Given the description of an element on the screen output the (x, y) to click on. 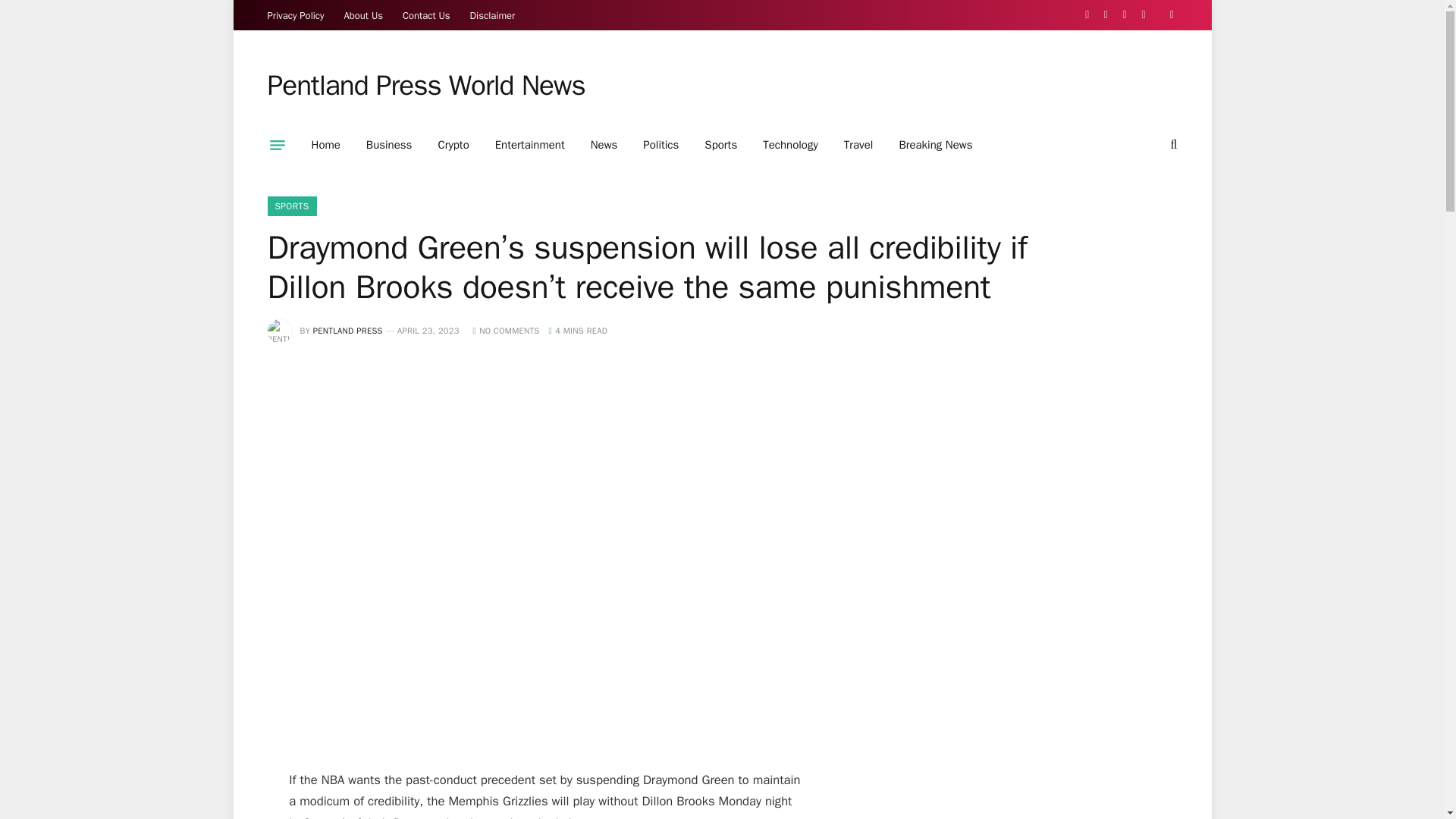
Entertainment (529, 144)
NO COMMENTS (506, 330)
Privacy Policy (295, 15)
Pentland Press World News (425, 85)
Pentland Press World News (425, 85)
PENTLAND PRESS (347, 330)
Posts by Pentland Press (347, 330)
About Us (363, 15)
Breaking News (935, 144)
Disclaimer (492, 15)
